Given the description of an element on the screen output the (x, y) to click on. 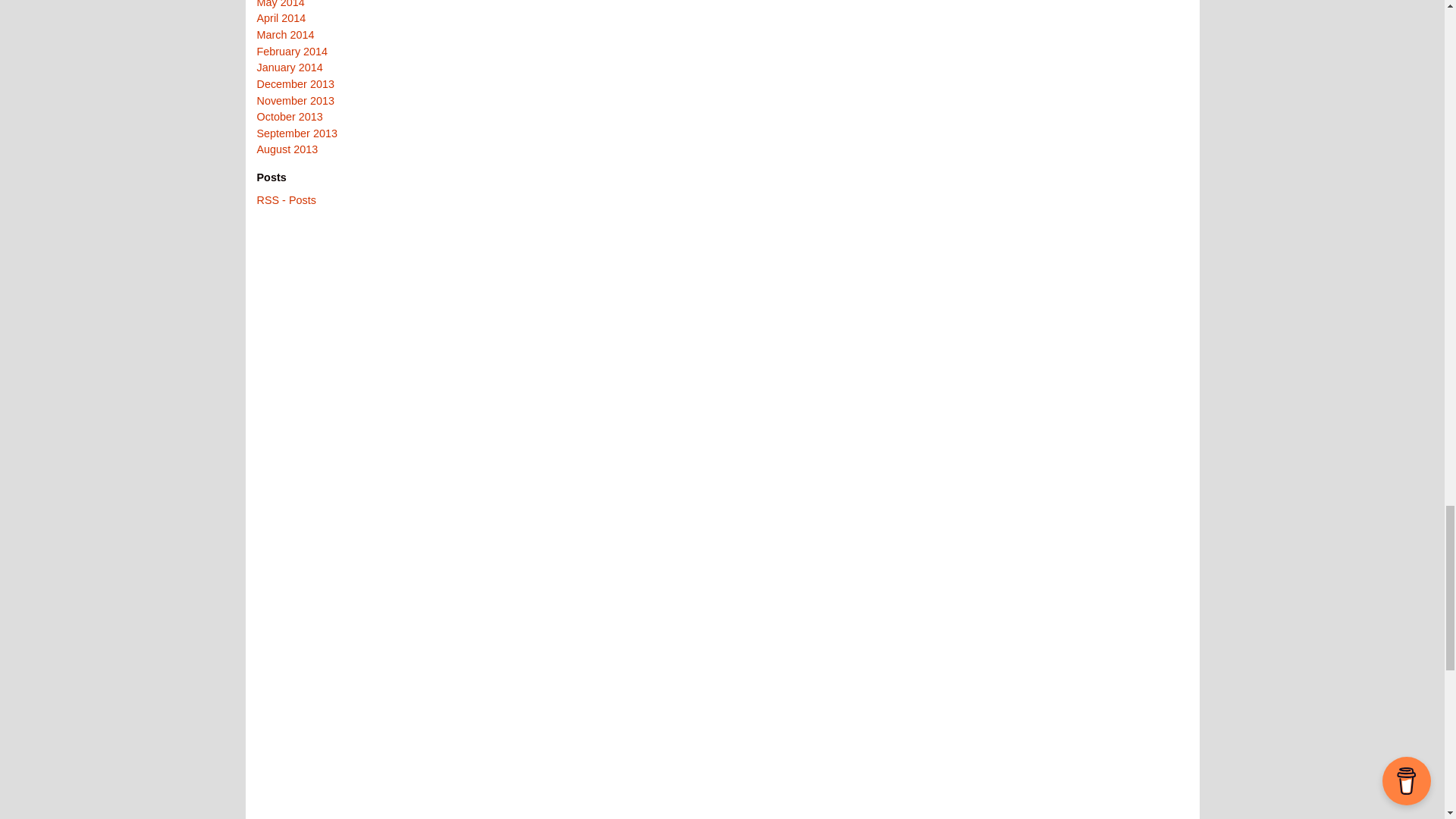
Subscribe to posts (285, 200)
